Given the description of an element on the screen output the (x, y) to click on. 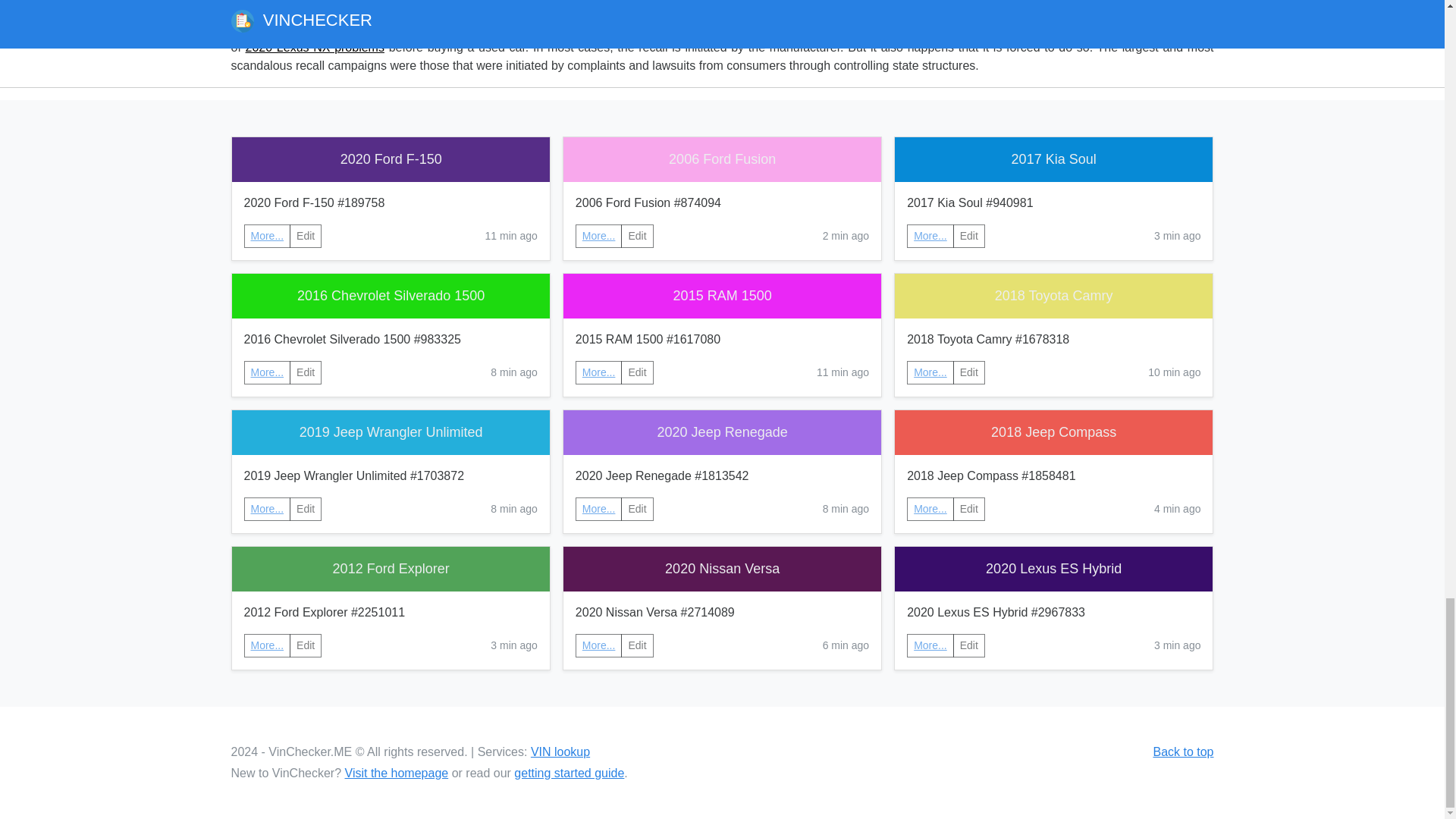
More... (598, 235)
More... (598, 372)
More... (266, 372)
Edit (305, 645)
2018 Jeep Compass (1053, 432)
2020 Lexus ES Hybrid (1053, 569)
Edit (969, 236)
Edit (636, 236)
More... (599, 372)
2020 Lexus NX recalls (498, 10)
